Given the description of an element on the screen output the (x, y) to click on. 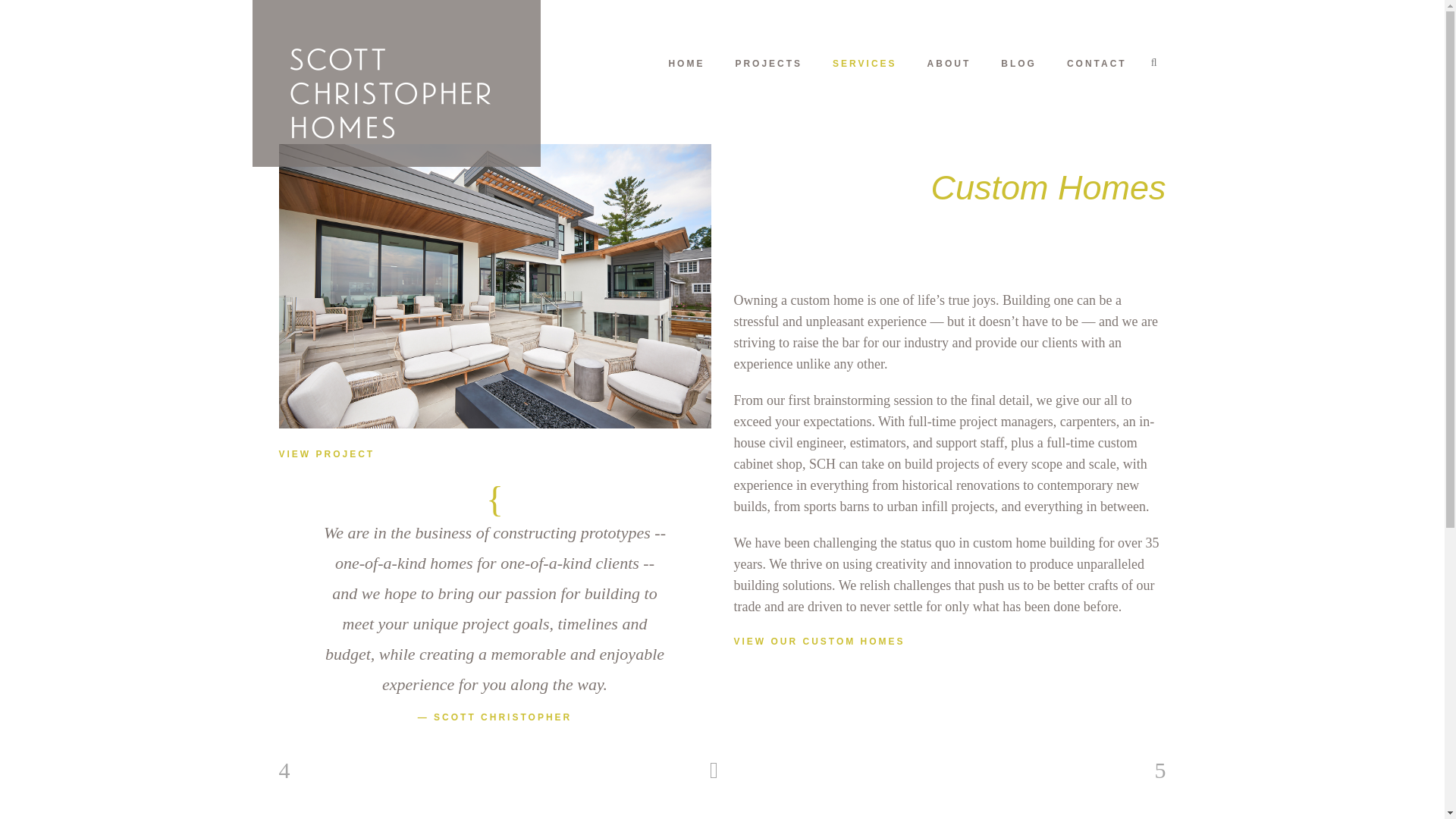
PROJECTS (767, 63)
VIEW OUR CUSTOM HOMES (819, 641)
ABOUT (949, 63)
HOME (685, 63)
CONTACT (1096, 63)
SERVICES (863, 63)
VIEW PROJECT (327, 453)
BLOG (1018, 63)
